Given the description of an element on the screen output the (x, y) to click on. 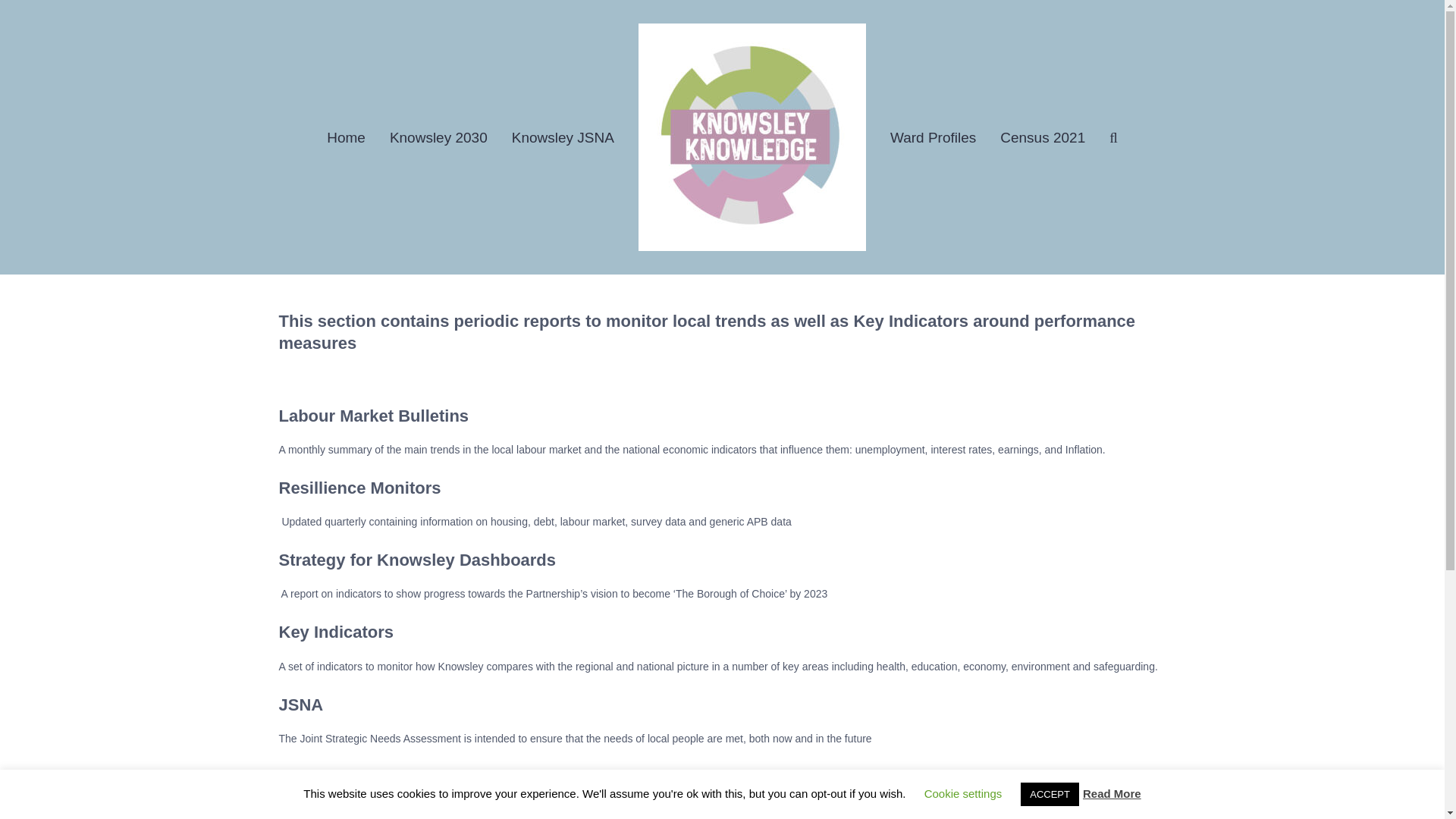
Knowsley JSNA (563, 137)
Strategy for Knowsley Dashboard (417, 559)
Knowsley 2030 (438, 137)
Strategy for Knowsley Dashboards (417, 559)
Census 2021 (1042, 137)
Ward Profiles (932, 137)
Key Indicators (336, 631)
Labour Market Bulletin (373, 415)
Key Indicators (336, 631)
Knowsley Resilience Monitor (360, 487)
Resillience Monitors (360, 487)
Cookie settings (963, 793)
JSNA (301, 704)
Labour Market Bulletins (373, 415)
